Given the description of an element on the screen output the (x, y) to click on. 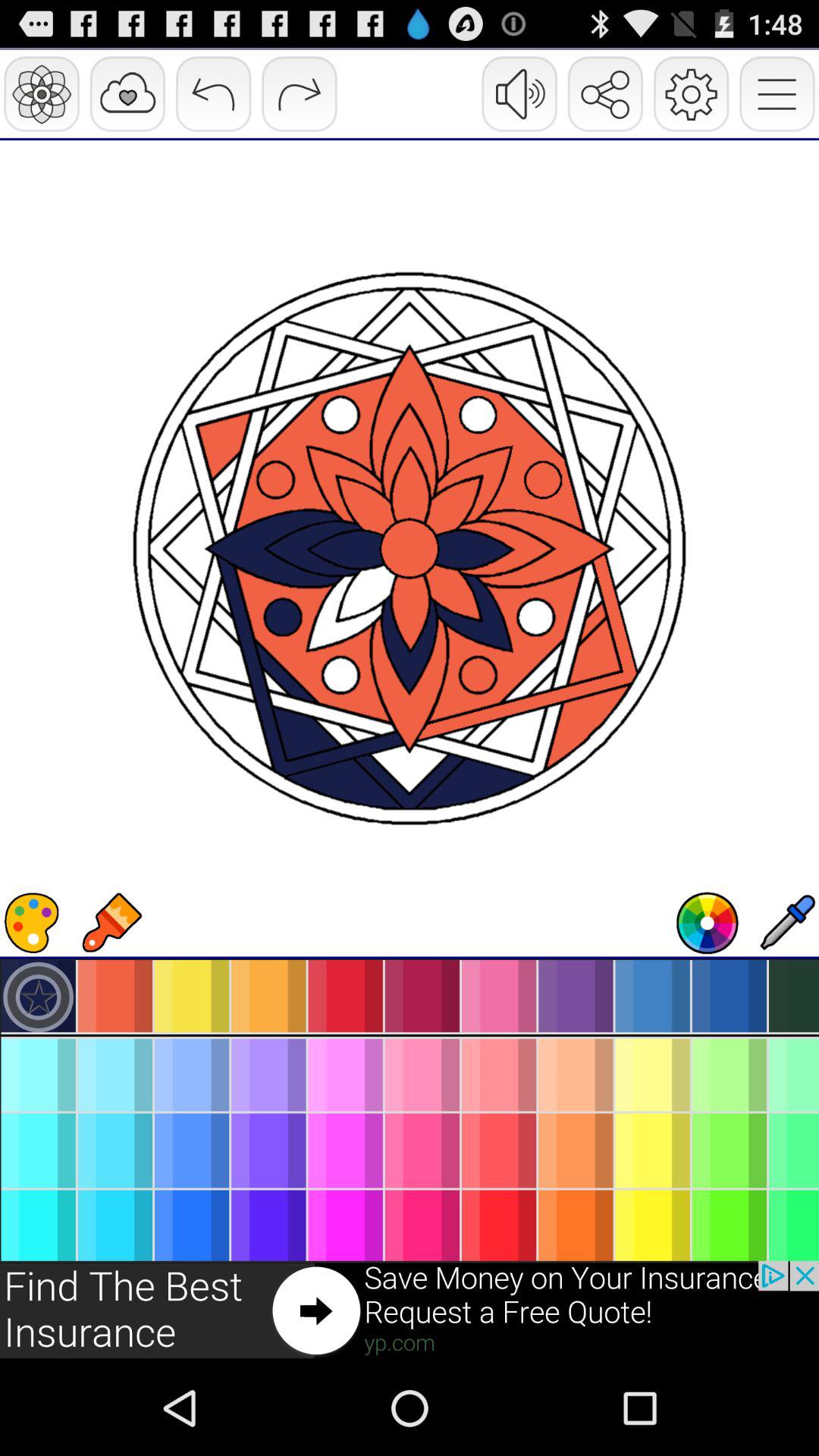
serach (707, 922)
